Given the description of an element on the screen output the (x, y) to click on. 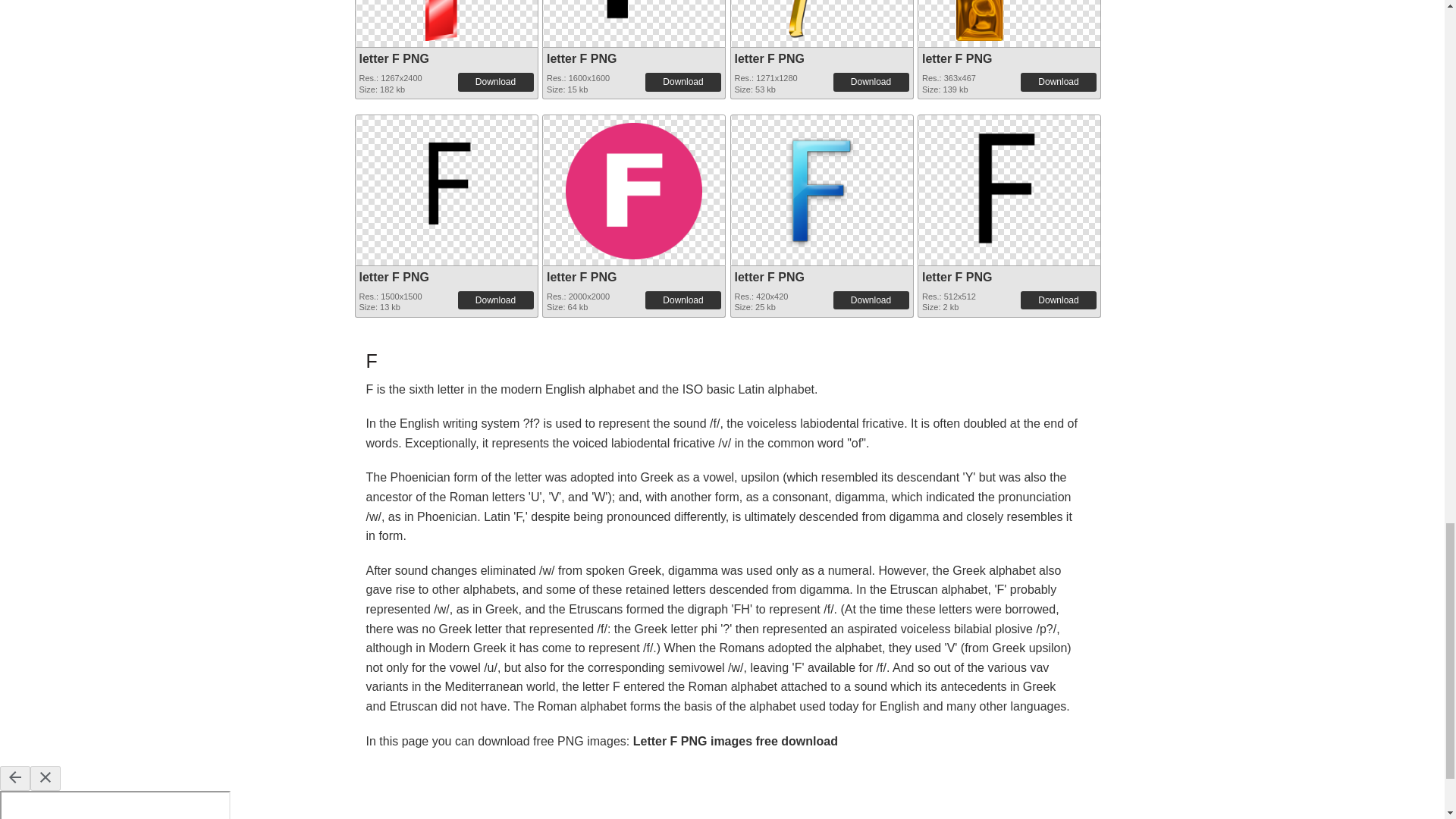
letter F PNG (394, 58)
letter F PNG (821, 20)
Download (682, 81)
letter F PNG (956, 58)
letter F PNG (633, 20)
letter F PNG (445, 20)
Download (870, 81)
Download (1058, 81)
letter F PNG (768, 58)
letter F PNG (581, 58)
Download (496, 81)
